Given the description of an element on the screen output the (x, y) to click on. 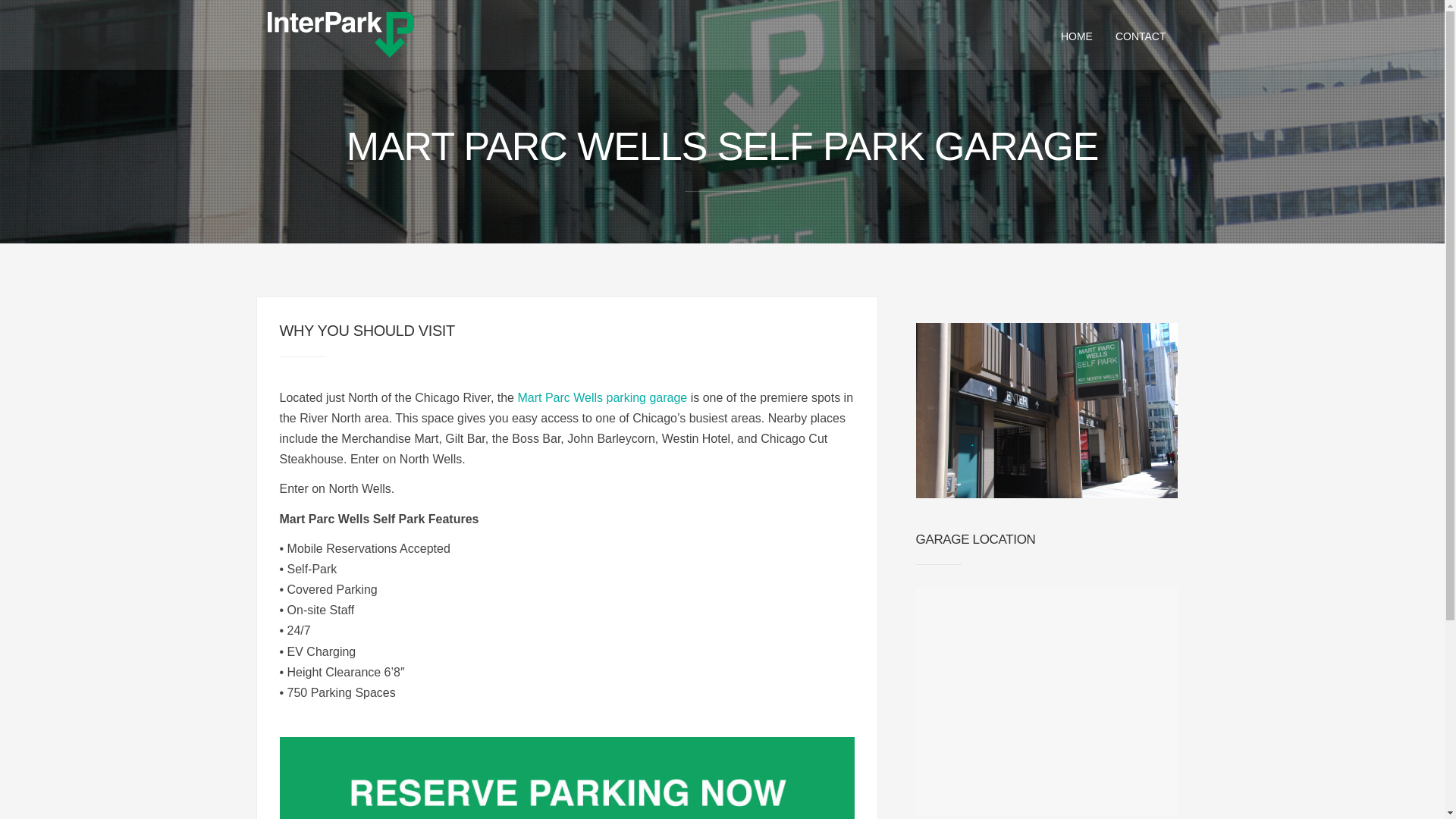
HOME Element type: text (1076, 34)
Mart Parc Wells parking garage Element type: text (602, 397)
CONTACT Element type: text (1140, 34)
